Given the description of an element on the screen output the (x, y) to click on. 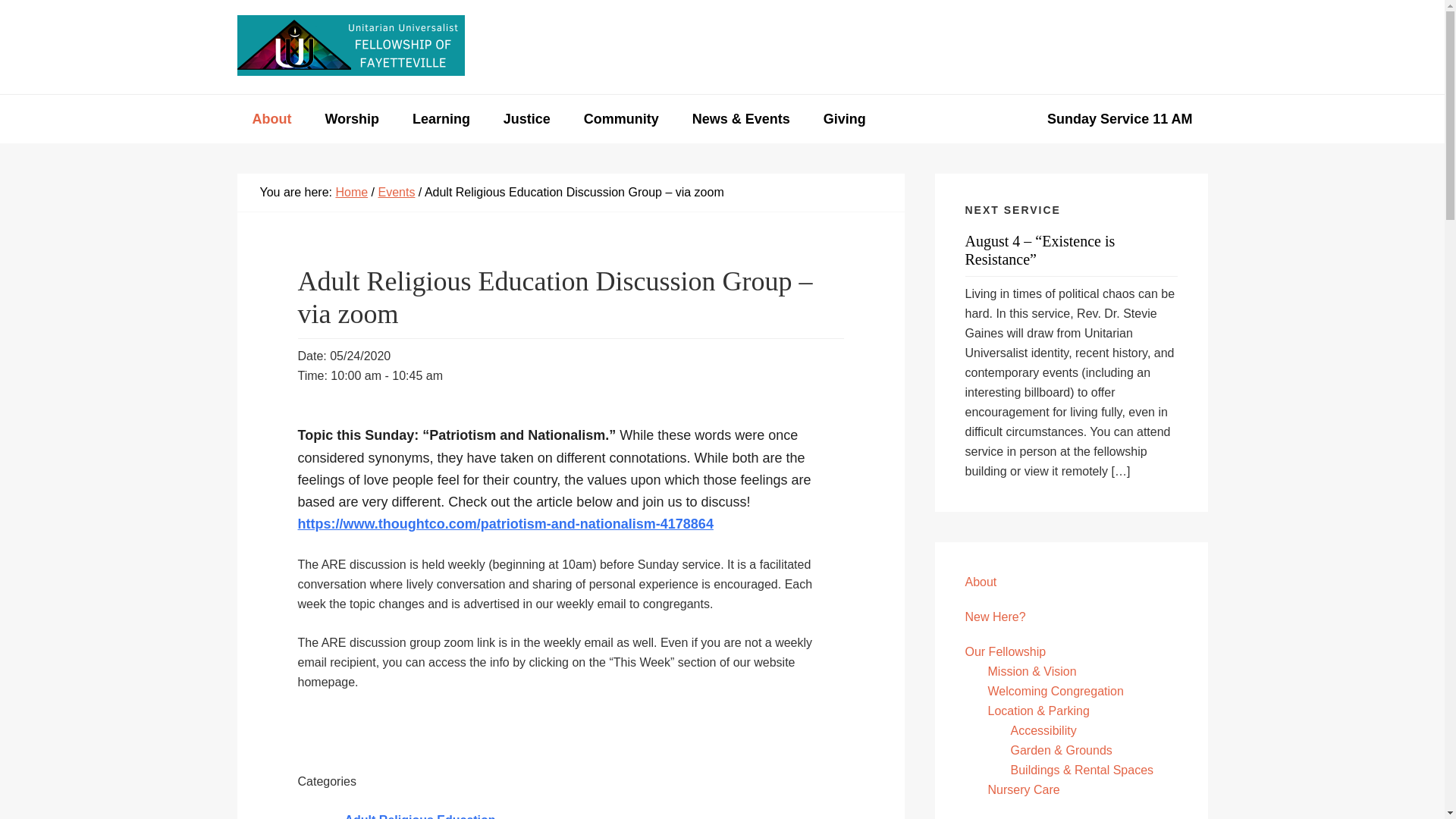
Contact (1087, 46)
Donate (1169, 46)
About (270, 119)
Worship (351, 119)
UUFF (349, 45)
Visit (1014, 46)
